Given the description of an element on the screen output the (x, y) to click on. 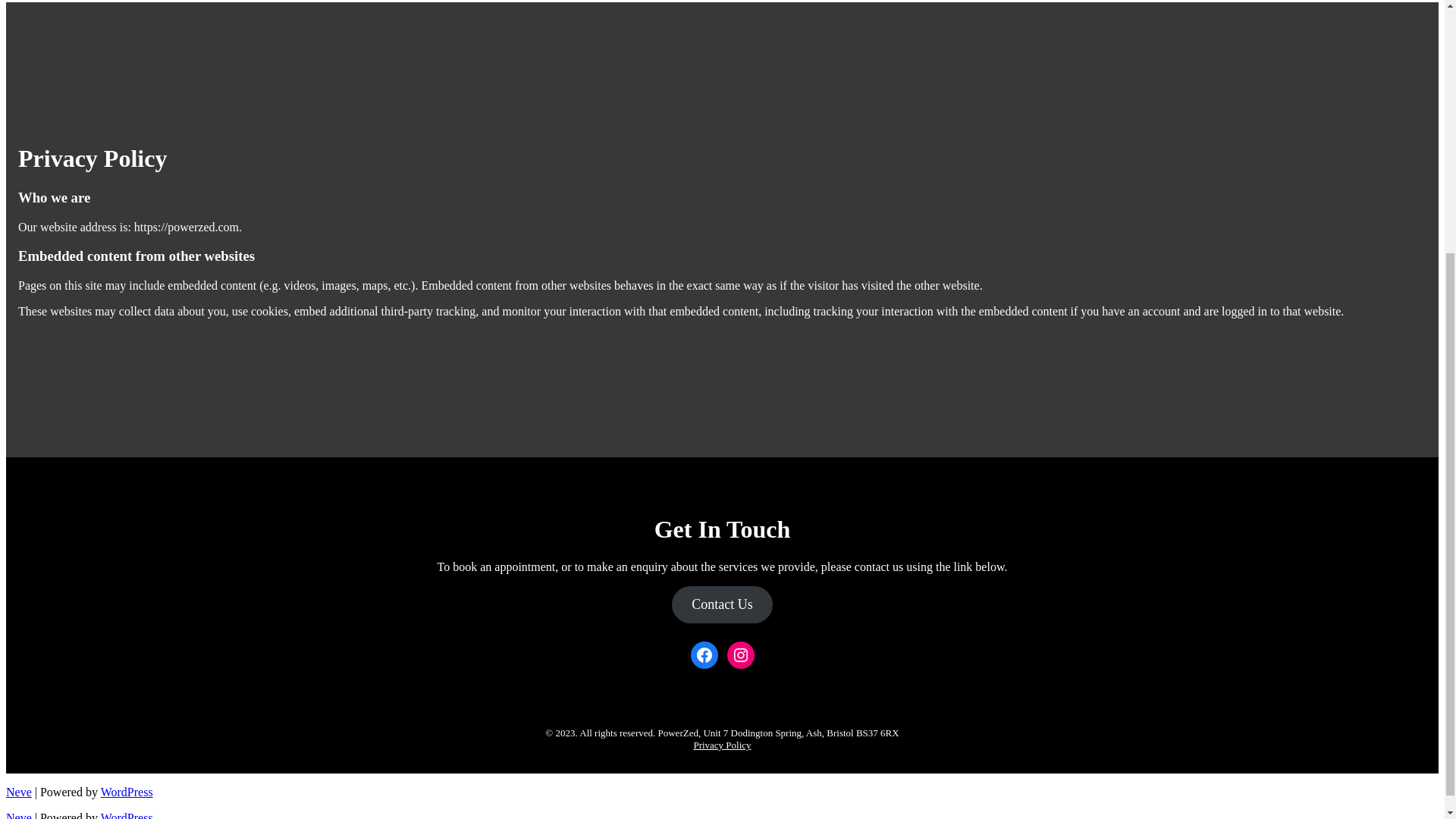
Contact Us (721, 604)
Neve (18, 791)
Instagram (740, 655)
Privacy Policy (722, 745)
WordPress (126, 791)
Facebook (703, 655)
